Given the description of an element on the screen output the (x, y) to click on. 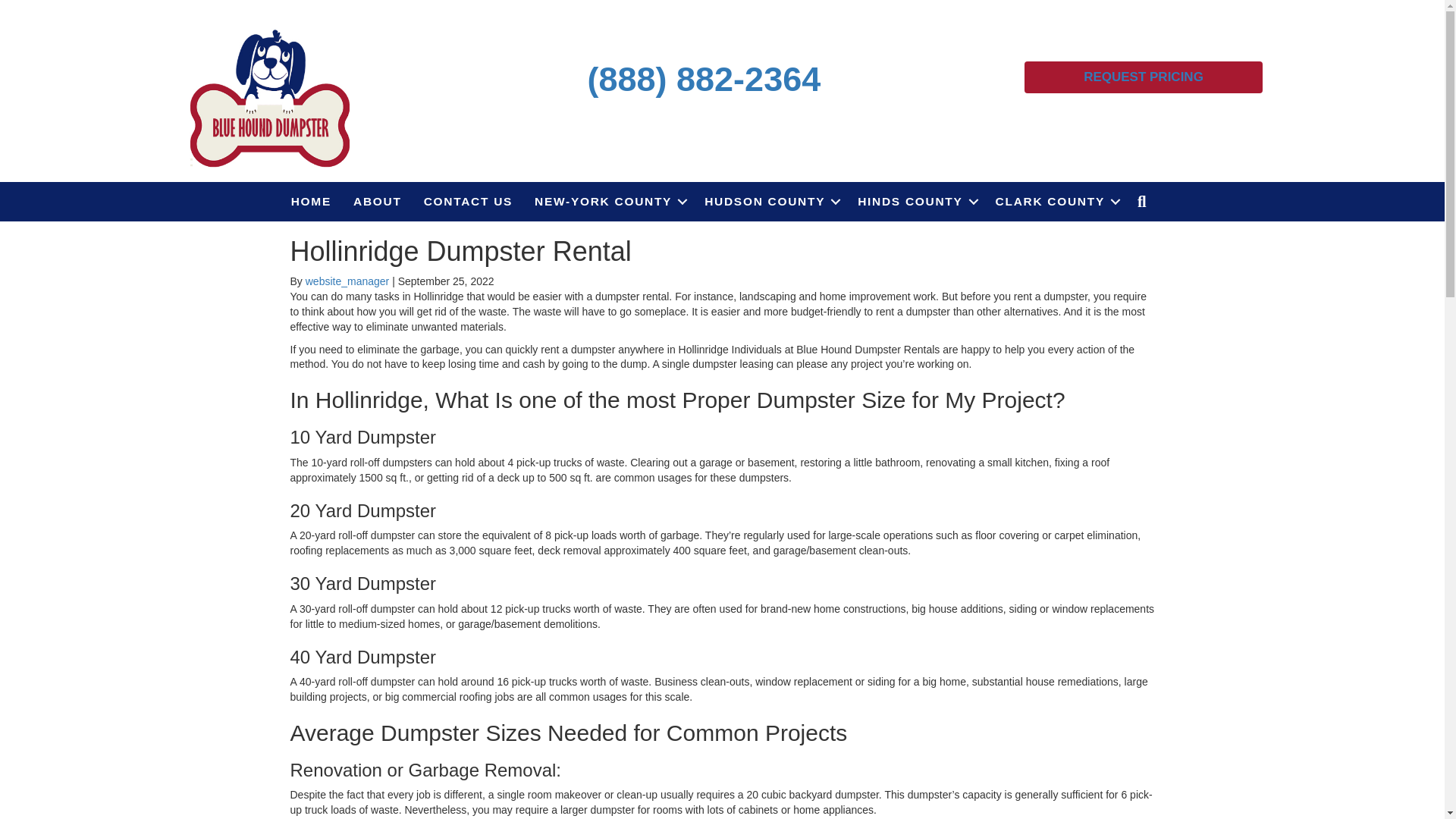
CONTACT US (467, 201)
CLARK COUNTY (1055, 201)
HUDSON COUNTY (769, 201)
HINDS COUNTY (915, 201)
REQUEST PRICING (1144, 77)
HOME (311, 201)
ABOUT (377, 201)
Skip to content (34, 6)
bluehounddumpster (269, 96)
NEW-YORK COUNTY (608, 201)
